Given the description of an element on the screen output the (x, y) to click on. 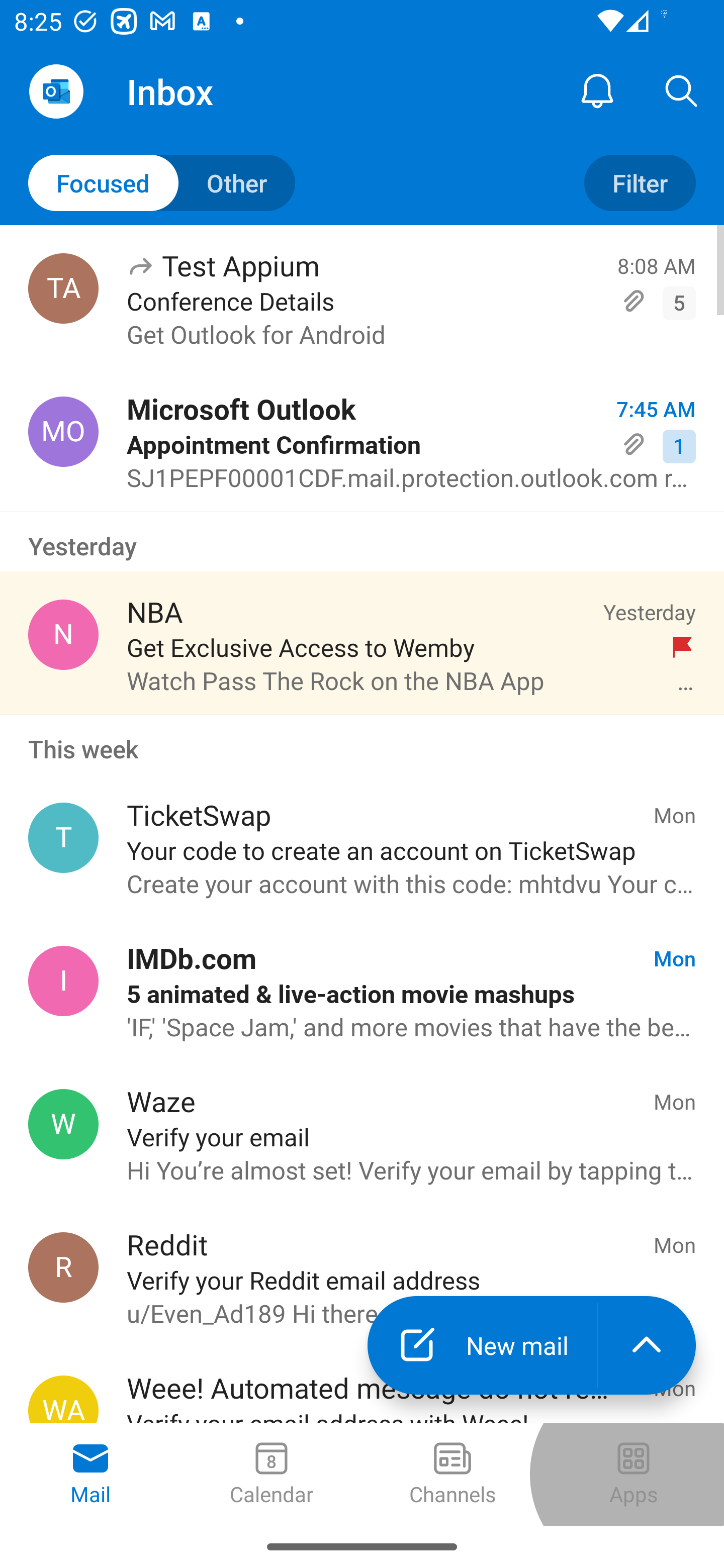
Notification Center (597, 90)
Search, ,  (681, 90)
Open Navigation Drawer (55, 91)
Toggle to other mails (161, 183)
Filter (639, 183)
Test Appium, testappium002@outlook.com (63, 288)
NBA, NBA@email.nba.com (63, 633)
TicketSwap, info@ticketswap.com (63, 837)
IMDb.com, do-not-reply@imdb.com (63, 980)
Waze, noreply@waze.com (63, 1123)
Reddit, noreply@reddit.com (63, 1267)
New mail (481, 1344)
launch the extended action menu (646, 1344)
Calendar (271, 1474)
Channels (452, 1474)
Apps (633, 1474)
